Given the description of an element on the screen output the (x, y) to click on. 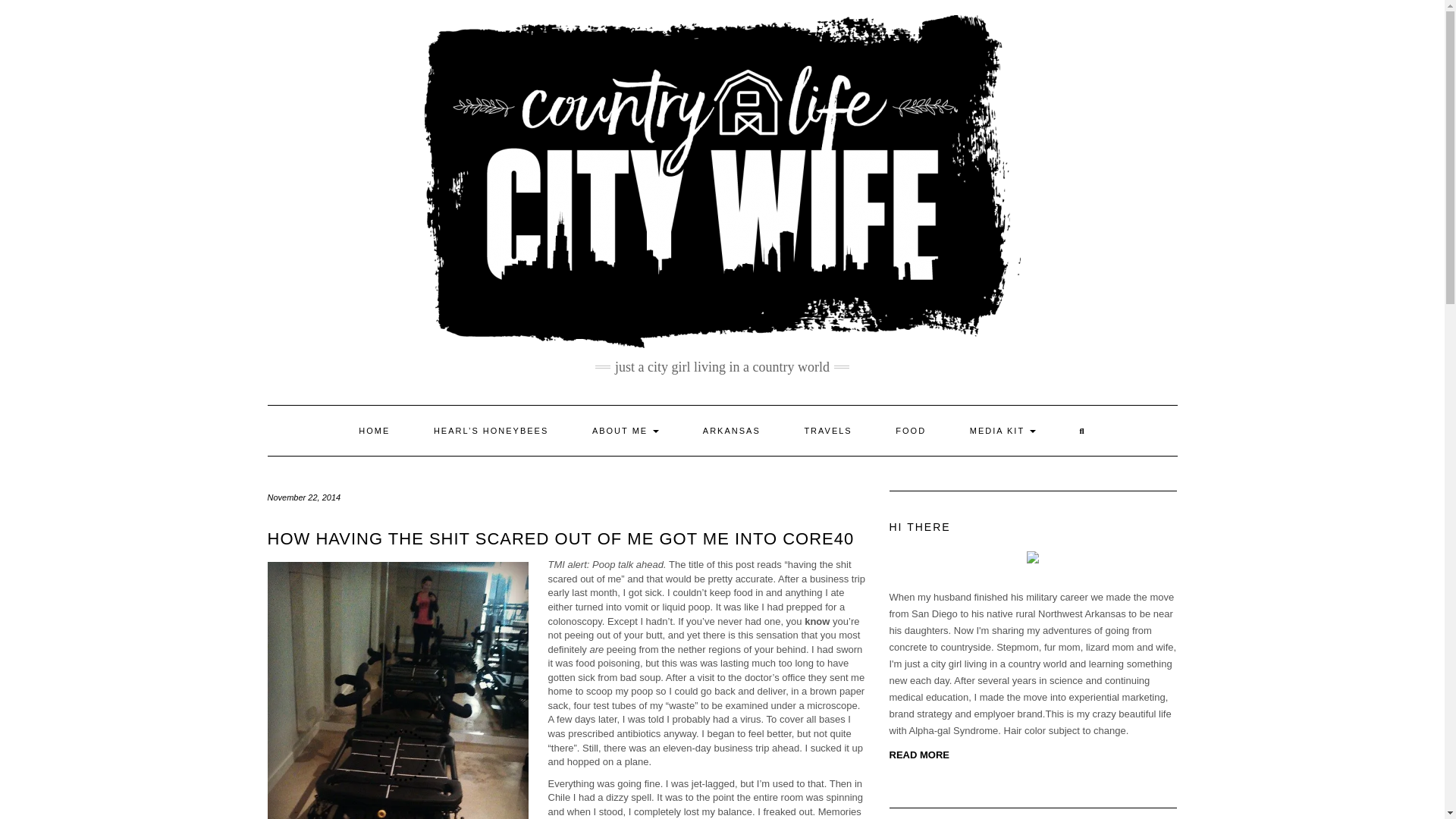
TRAVELS (827, 430)
FOOD (910, 430)
HOME (373, 430)
ABOUT ME (625, 430)
ARKANSAS (731, 430)
MEDIA KIT (1003, 430)
